Given the description of an element on the screen output the (x, y) to click on. 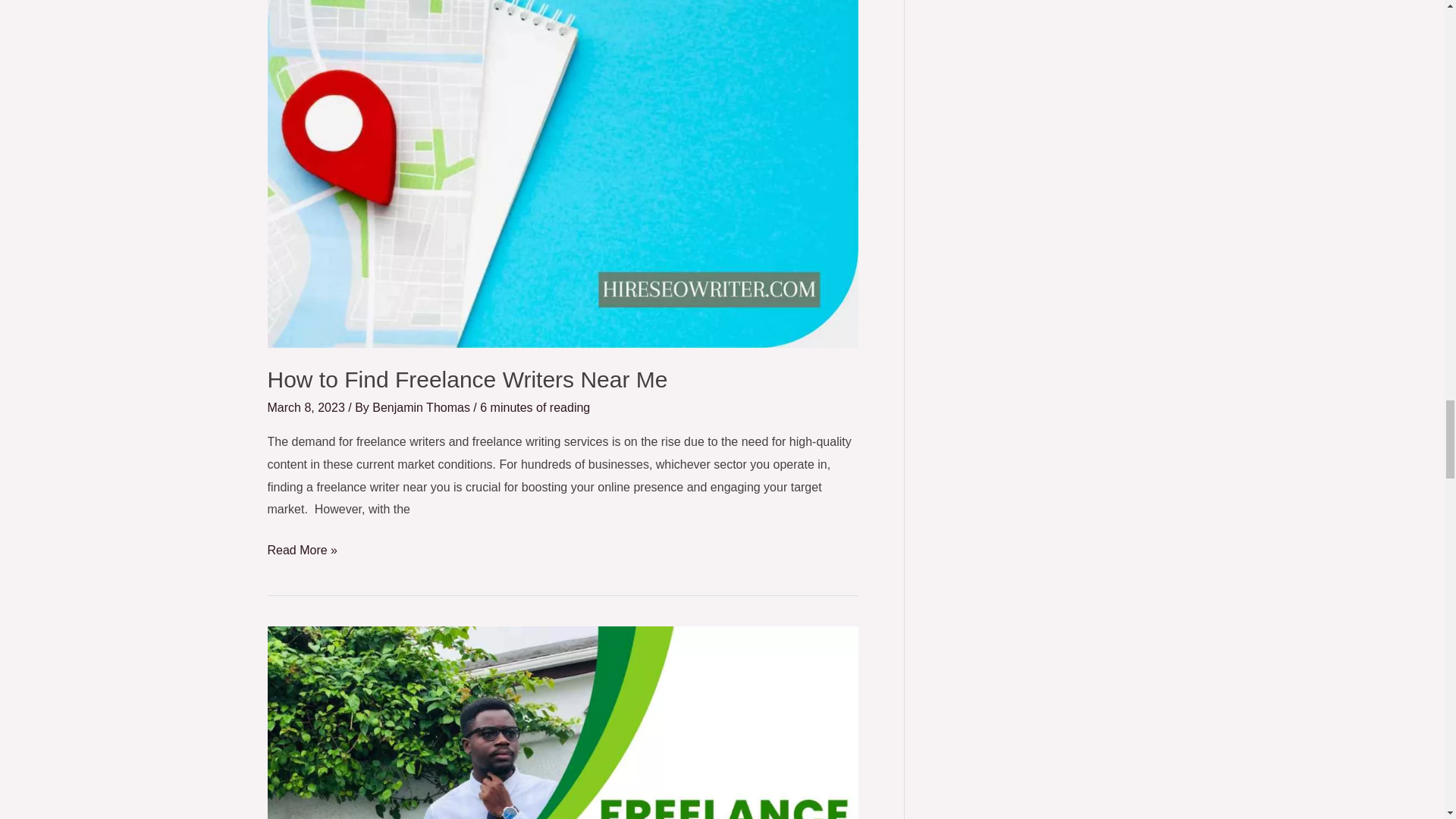
View all posts by Benjamin Thomas (422, 407)
